Given the description of an element on the screen output the (x, y) to click on. 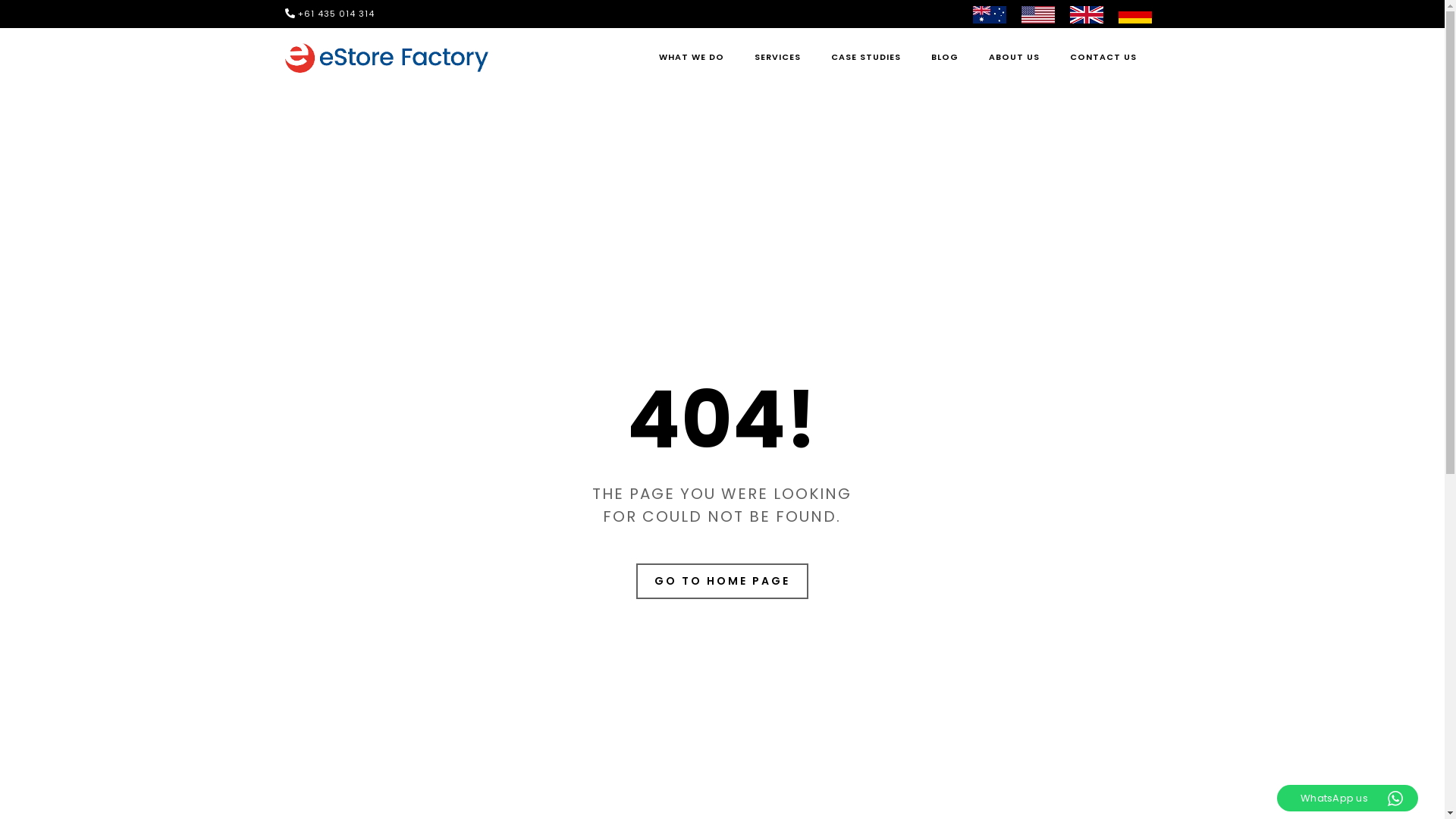
USA Element type: hover (1037, 13)
Australia Element type: hover (989, 13)
ABOUT US Element type: text (1013, 57)
GO TO HOME PAGE Element type: text (722, 581)
BLOG Element type: text (944, 57)
+61 435 014 314 Element type: text (336, 13)
WHAT WE DO Element type: text (691, 57)
Germany Element type: hover (1134, 13)
SERVICES Element type: text (777, 57)
UK Element type: hover (1086, 13)
CASE STUDIES Element type: text (865, 57)
CONTACT US Element type: text (1103, 57)
